Given the description of an element on the screen output the (x, y) to click on. 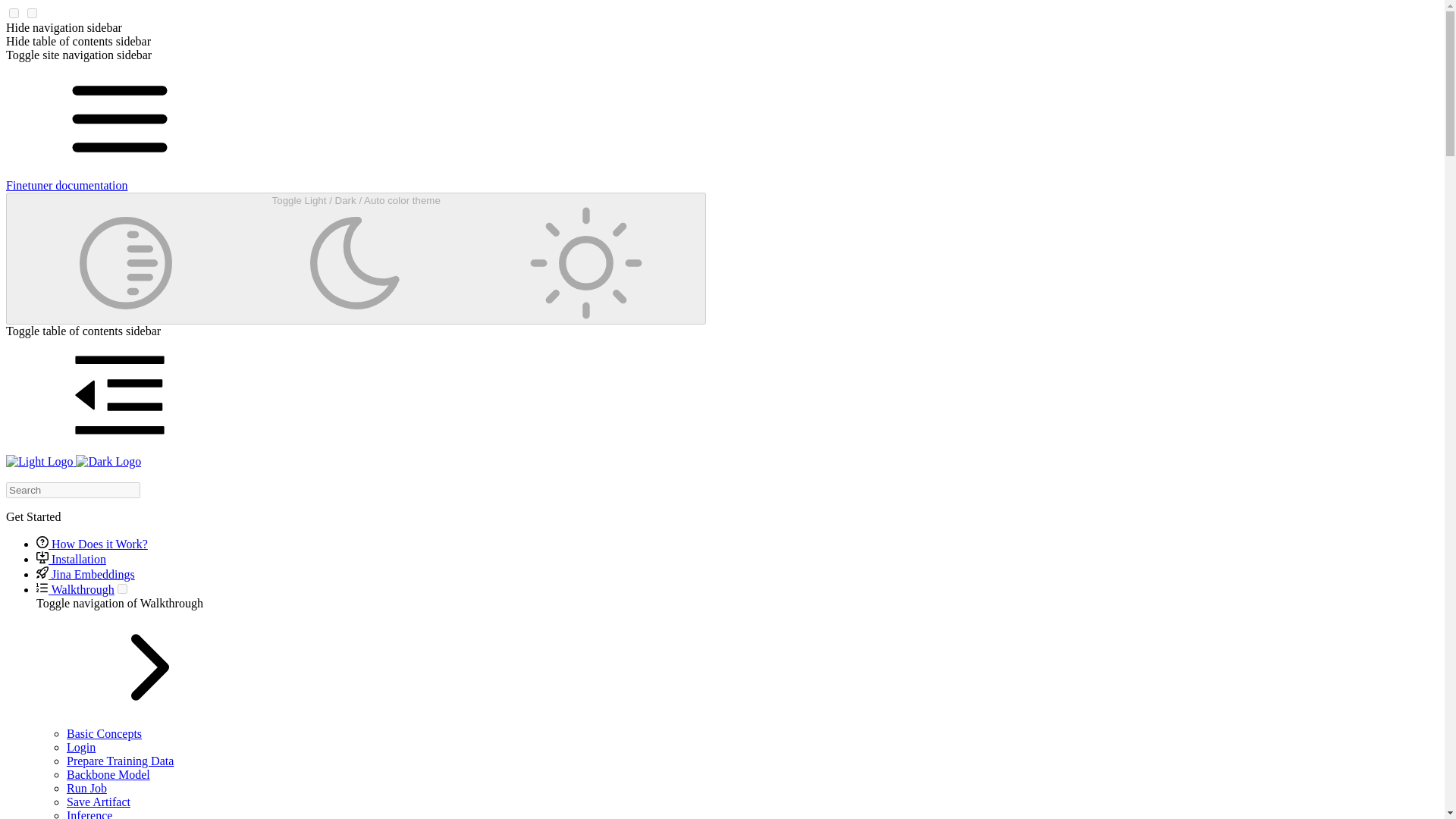
Walkthrough (75, 589)
Run Job (86, 788)
Basic Concepts (103, 733)
on (32, 13)
Jina Embeddings (85, 574)
Inference (89, 814)
Save Artifact (98, 801)
Backbone Model (107, 774)
on (122, 588)
How Does it Work? (92, 543)
Prepare Training Data (119, 760)
on (13, 13)
Installation (71, 558)
Login (81, 747)
